Given the description of an element on the screen output the (x, y) to click on. 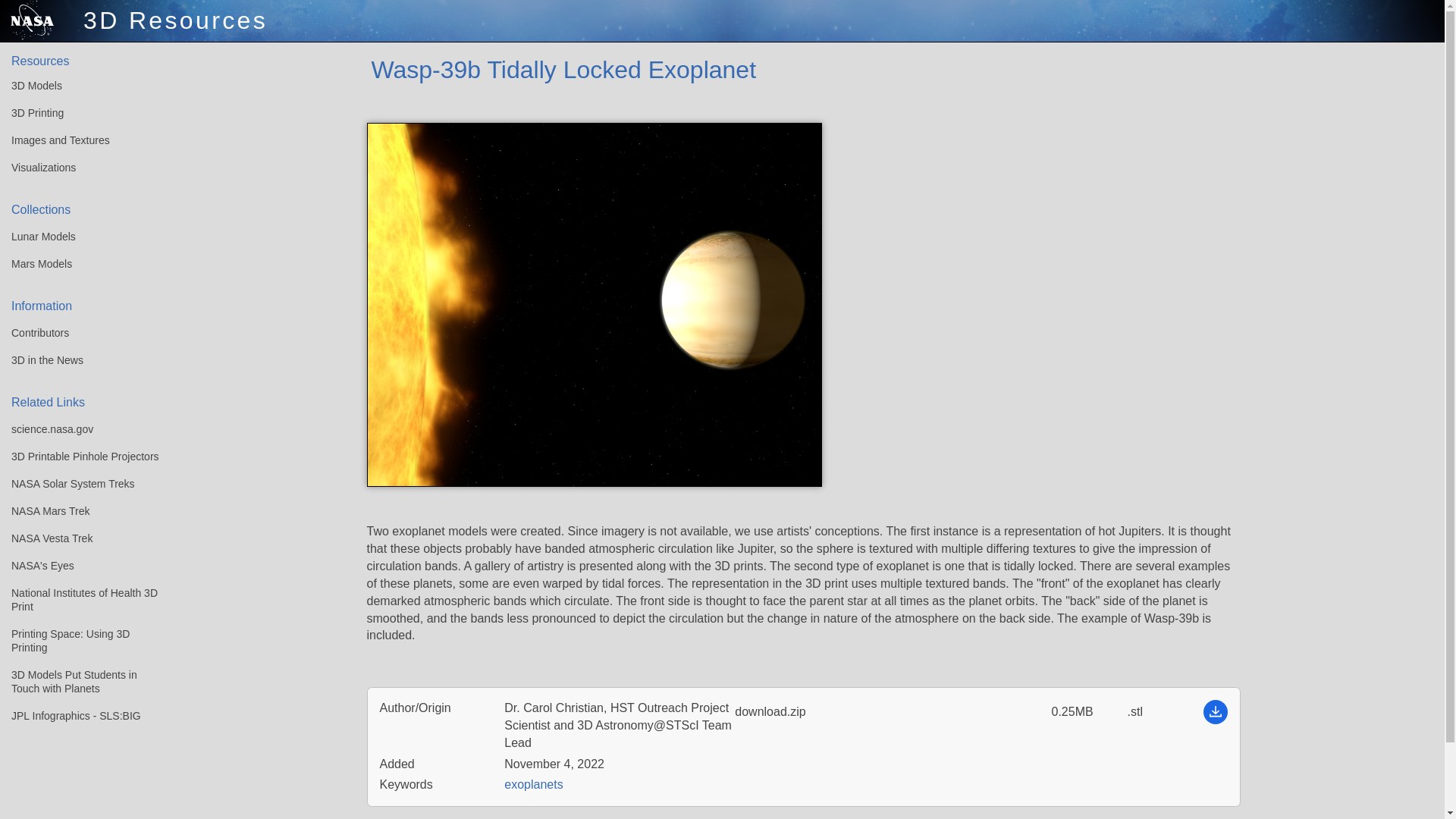
3D in the News (79, 360)
JPL Infographics - SLS:BIG (79, 716)
NASA Solar System Treks (79, 483)
3D Resources (133, 20)
Lunar Models (79, 236)
Printing Space: Using 3D Printing (79, 640)
Mars Models (79, 264)
science.nasa.gov (79, 429)
NASA Vesta Trek (79, 538)
3D Printing (79, 113)
Visualizations (79, 167)
Resources (79, 60)
3D Printable Pinhole Projectors (79, 456)
3D Models Put Students in Touch with Planets (79, 681)
